Given the description of an element on the screen output the (x, y) to click on. 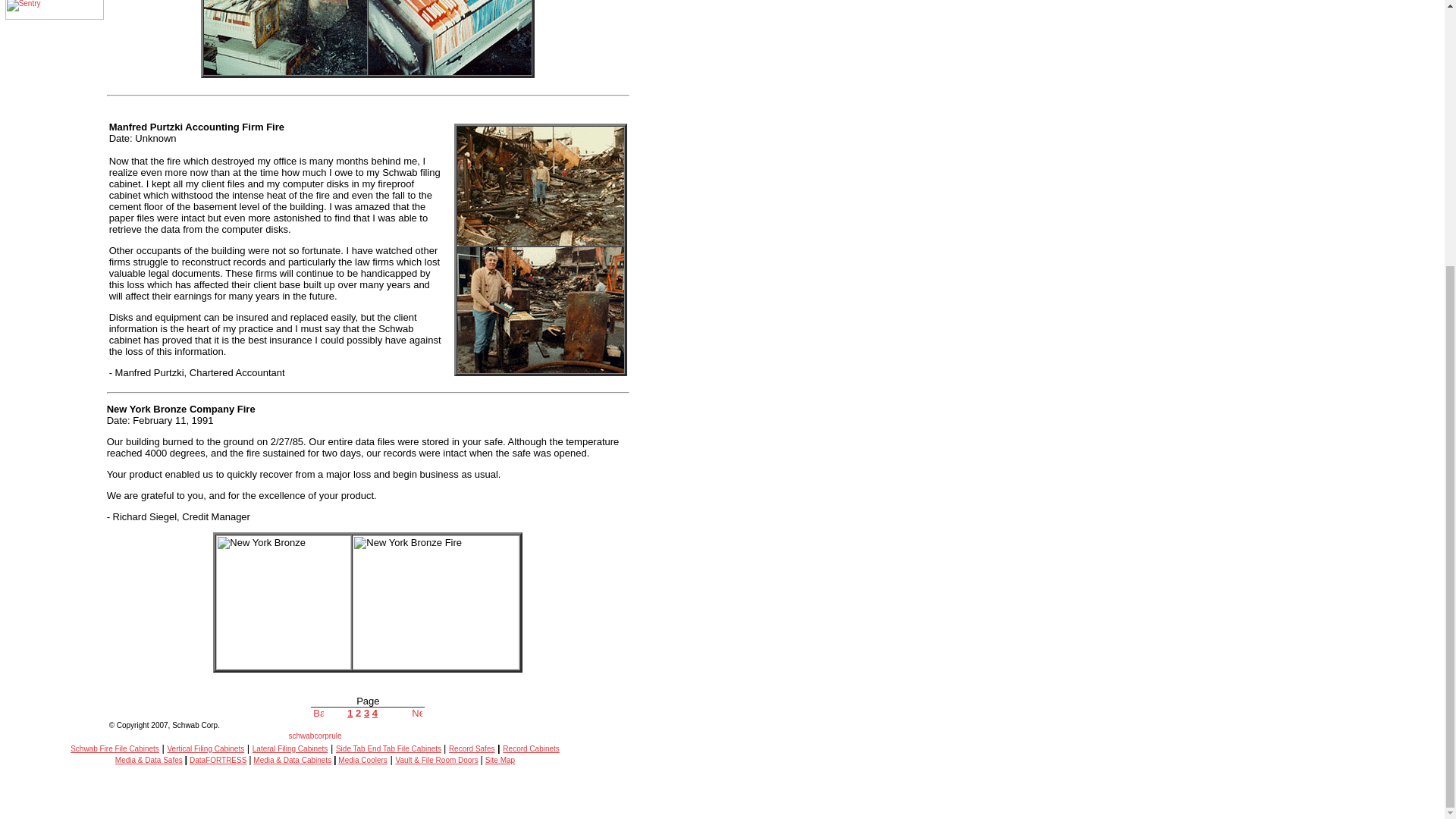
Schwab Fire Files (315, 738)
